Given the description of an element on the screen output the (x, y) to click on. 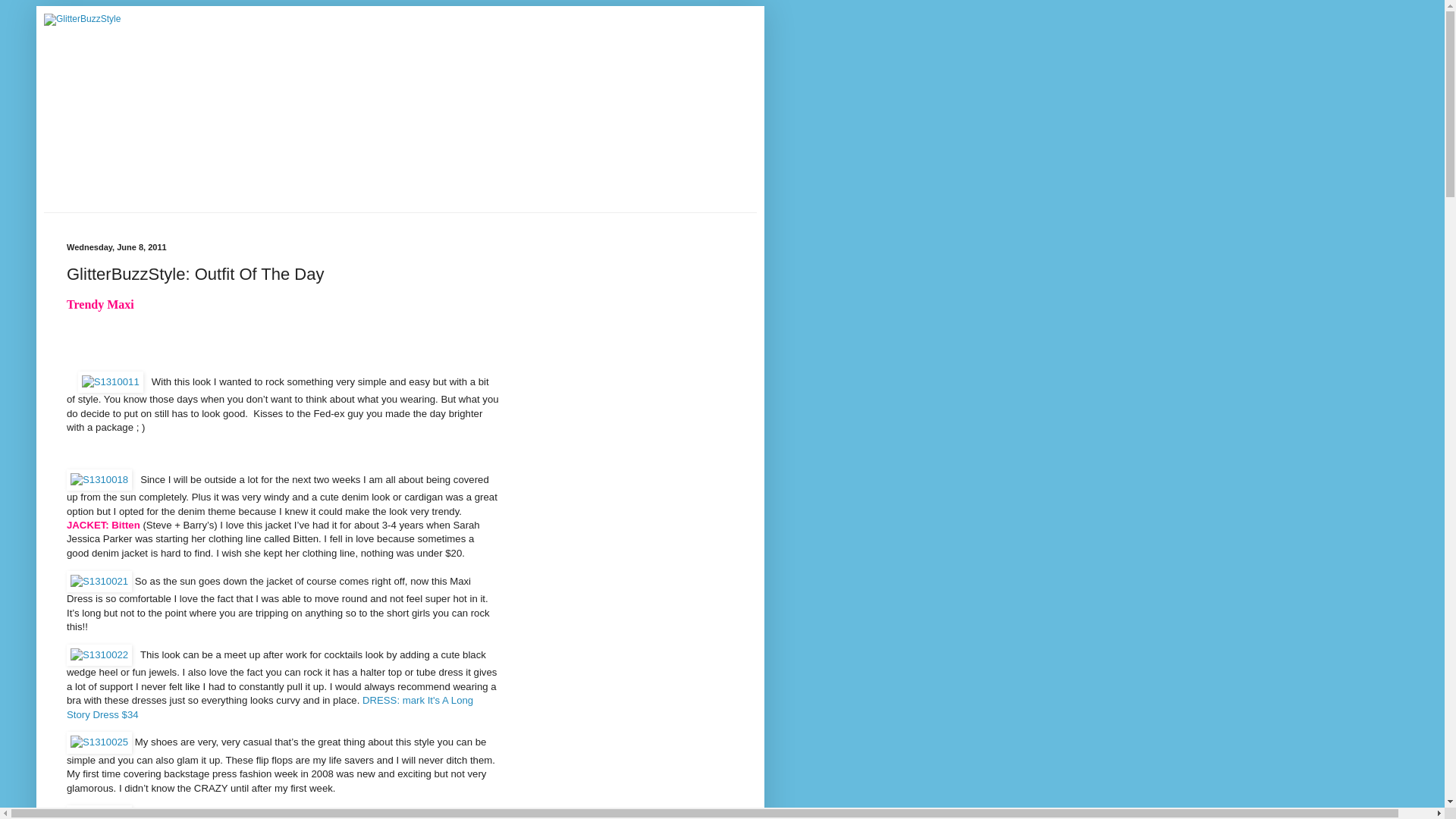
S1310022 (99, 654)
S1310011 (110, 382)
S1310021 (99, 581)
S1310018 (99, 479)
S1310026 (99, 812)
S1310025 (99, 742)
